Given the description of an element on the screen output the (x, y) to click on. 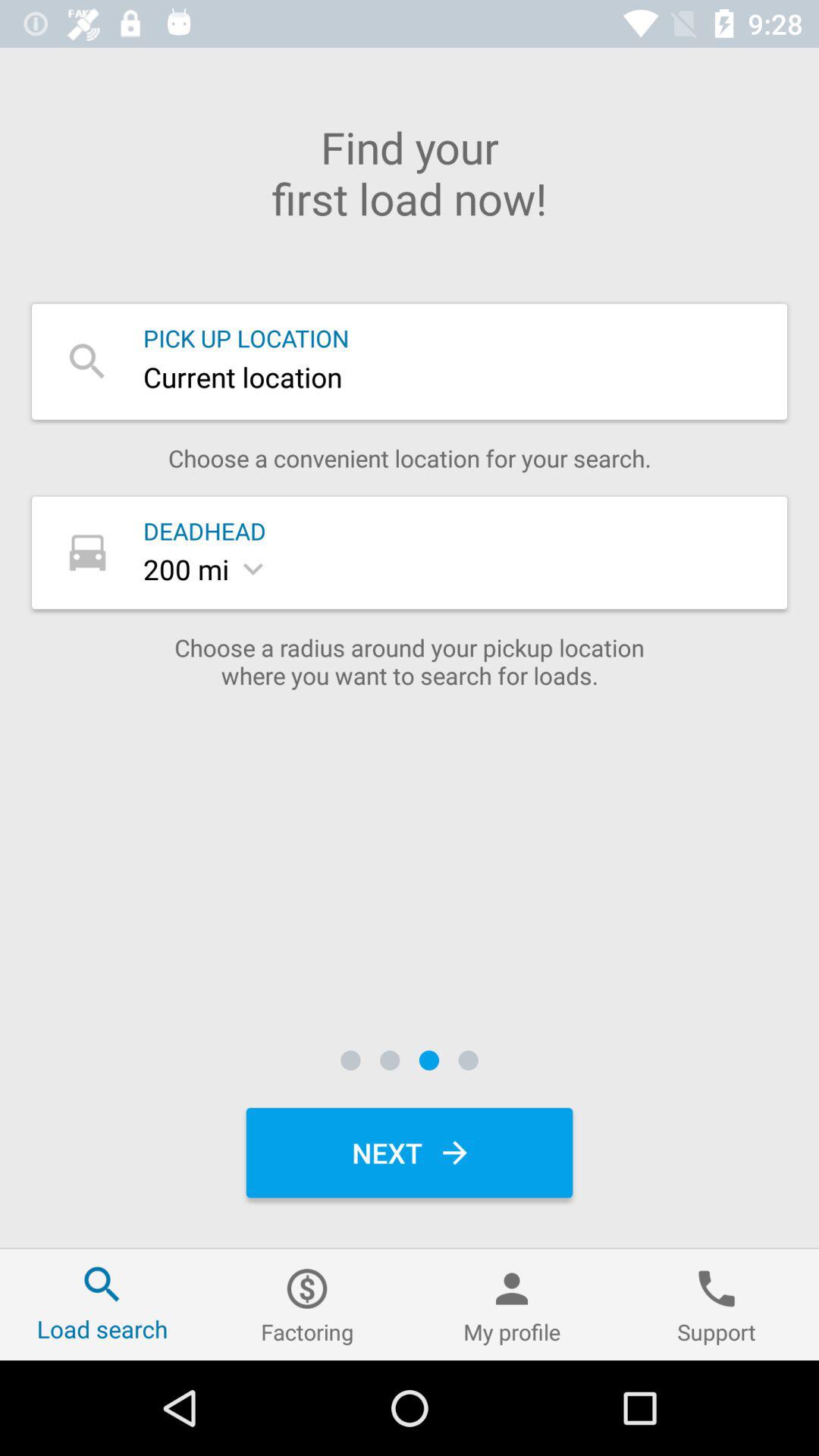
open item next to the factoring icon (511, 1304)
